Given the description of an element on the screen output the (x, y) to click on. 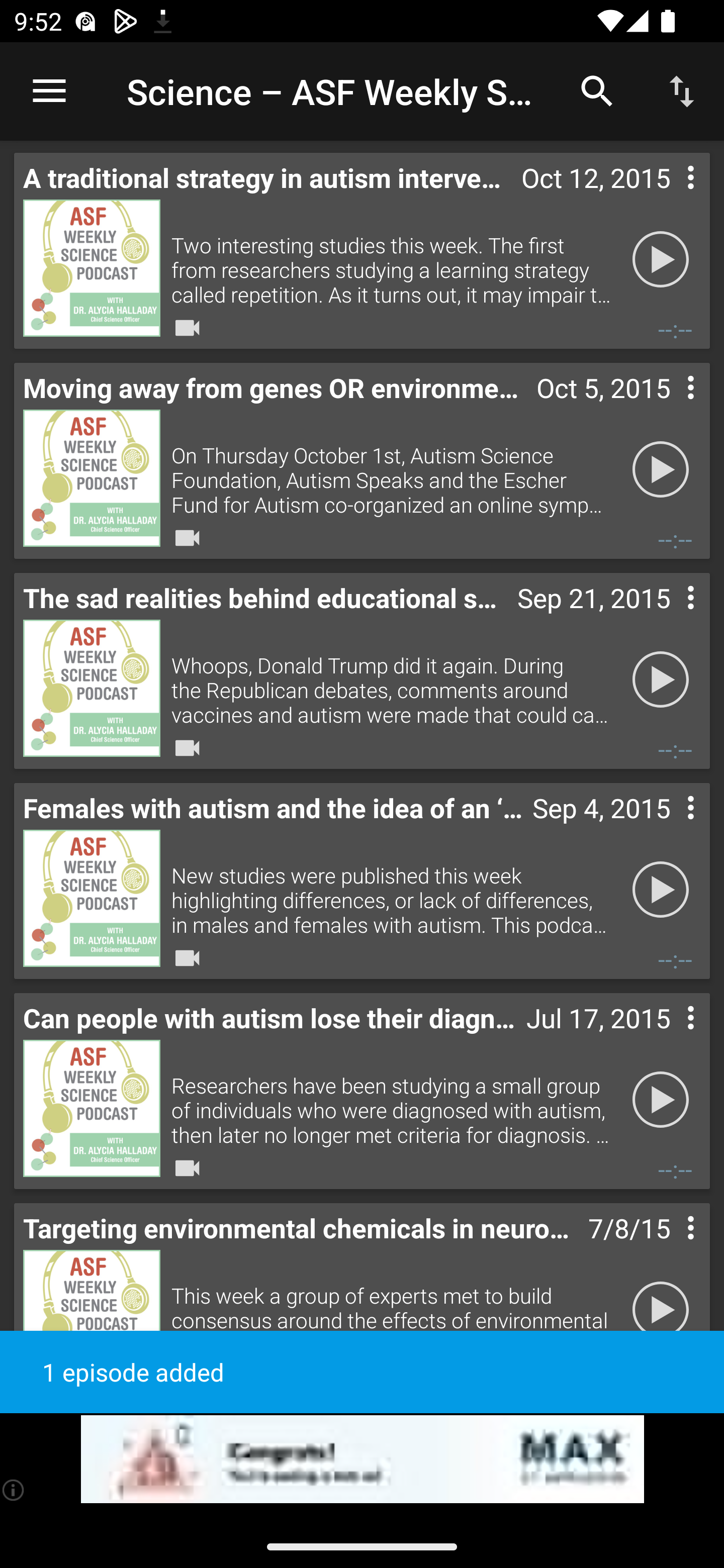
Open navigation sidebar (49, 91)
Search (597, 90)
Sort (681, 90)
Contextual menu (668, 197)
Play (660, 259)
Contextual menu (668, 408)
Play (660, 469)
Contextual menu (668, 618)
Play (660, 679)
Contextual menu (668, 827)
Play (660, 889)
Contextual menu (668, 1037)
Play (660, 1099)
Contextual menu (668, 1247)
Play (660, 1309)
app-monetization (362, 1459)
(i) (14, 1489)
